Given the description of an element on the screen output the (x, y) to click on. 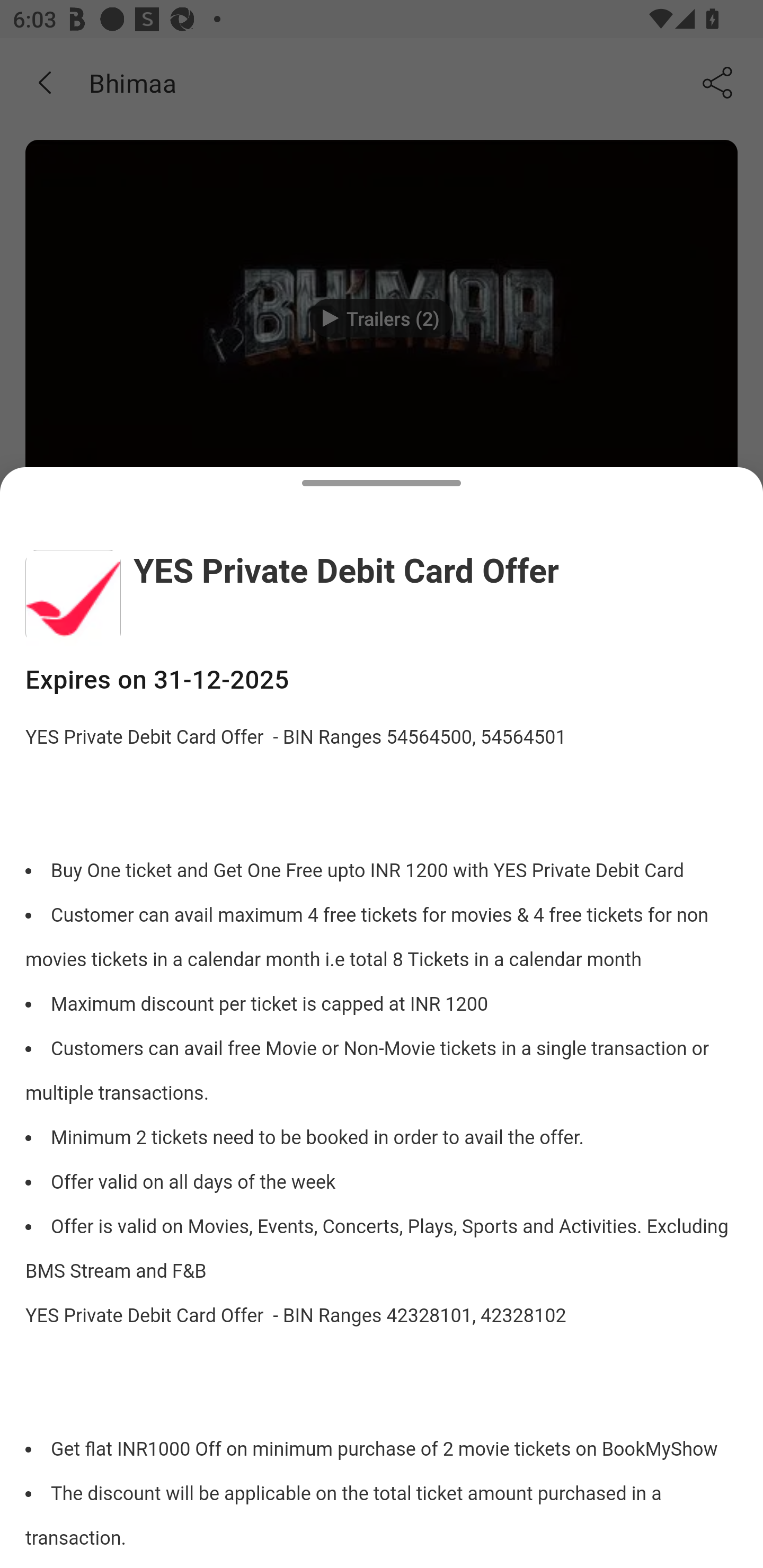
Expires on 31-12-2025 (381, 680)
